Given the description of an element on the screen output the (x, y) to click on. 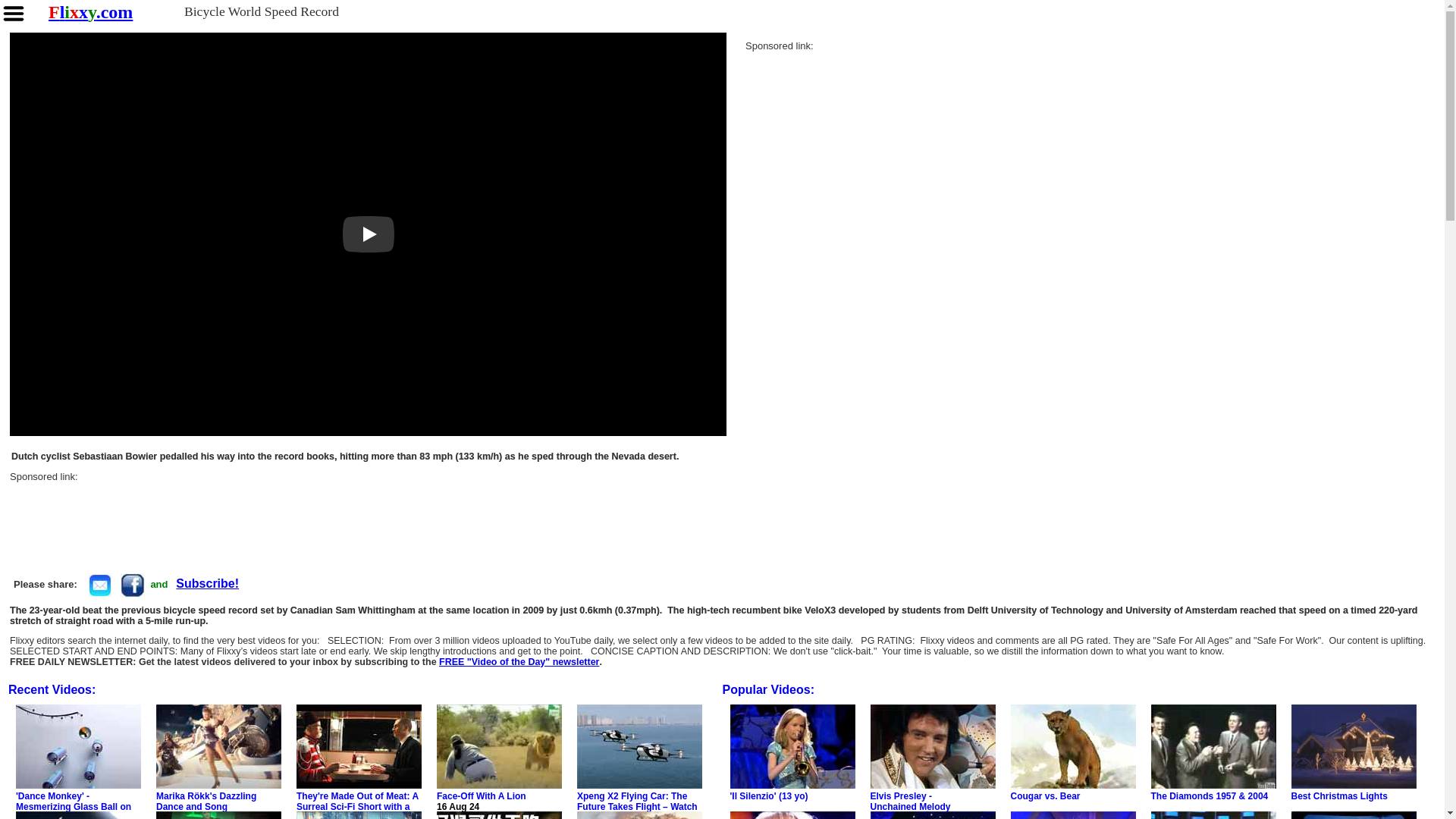
Menu (13, 13)
Play (368, 234)
Flixxy.com (89, 12)
3rd party ad content (286, 516)
FREE "Video of the Day" newsletter (518, 662)
FREE Newsletter (207, 584)
Share via E-mail (99, 584)
Home (89, 12)
3rd party ad content (858, 145)
300x250 (858, 142)
